Given the description of an element on the screen output the (x, y) to click on. 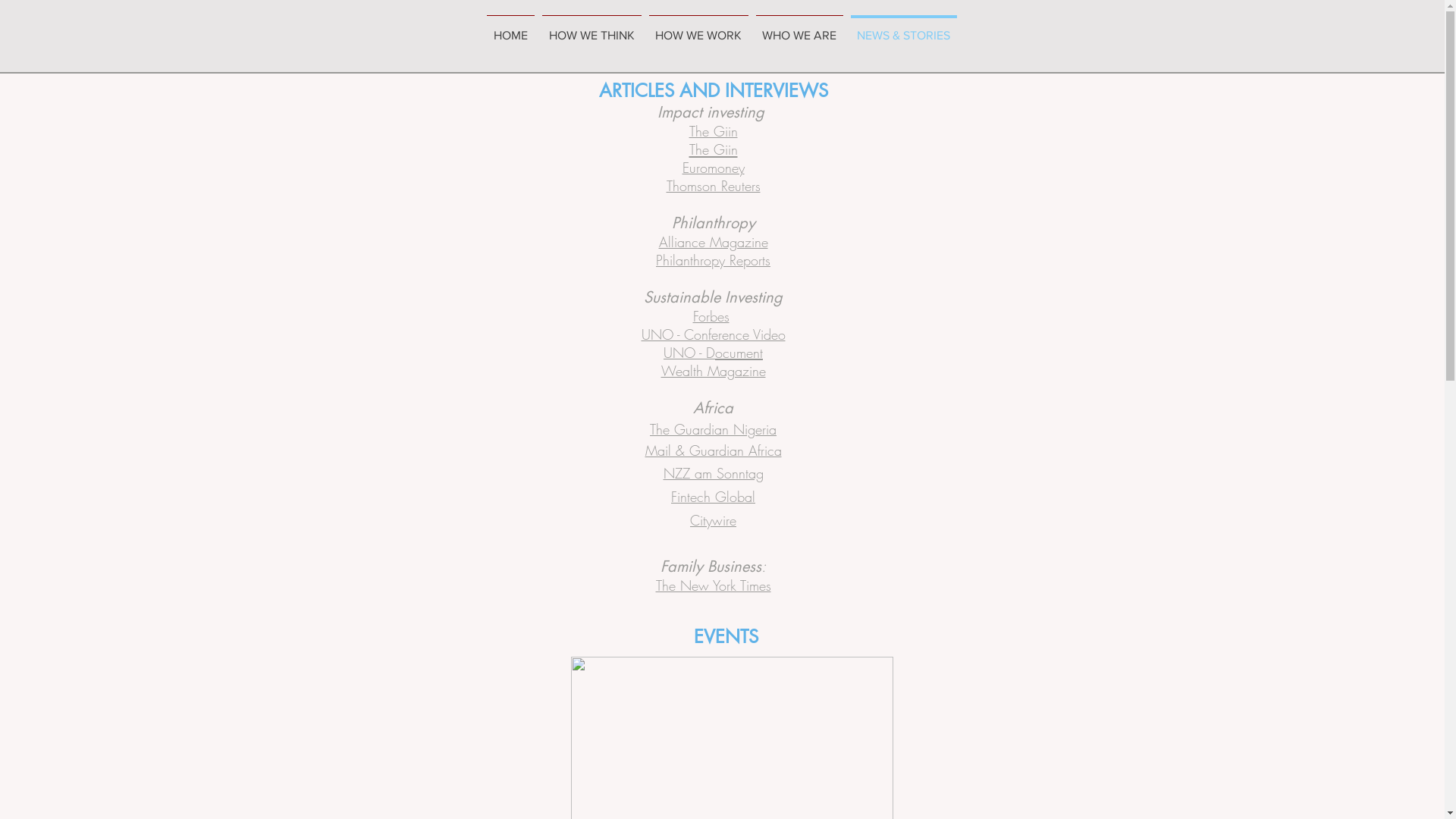
Euromoney Element type: text (713, 166)
Philanthropy Reports Element type: text (712, 260)
Forbes  Element type: text (713, 315)
Citywire Element type: text (713, 520)
NEWS & STORIES Element type: text (903, 28)
WHO WE ARE Element type: text (799, 28)
HOW WE WORK Element type: text (697, 28)
Africa Element type: text (713, 407)
UNO - Document Element type: text (712, 352)
The Giin Element type: text (712, 148)
Thomson Reuters Element type: text (712, 185)
The New York Times Element type: text (712, 585)
Mail & Guardian Africa Element type: text (712, 450)
Wealth Magazine Element type: text (713, 370)
The Guardian Nigeria Element type: text (712, 429)
NZZ am Sonntag Element type: text (712, 472)
HOW WE THINK Element type: text (591, 28)
Fintech Global Element type: text (713, 496)
Alliance Magazine Element type: text (712, 241)
HOME Element type: text (509, 28)
UNO - Conference Video Element type: text (713, 334)
The Giin Element type: text (712, 130)
